Given the description of an element on the screen output the (x, y) to click on. 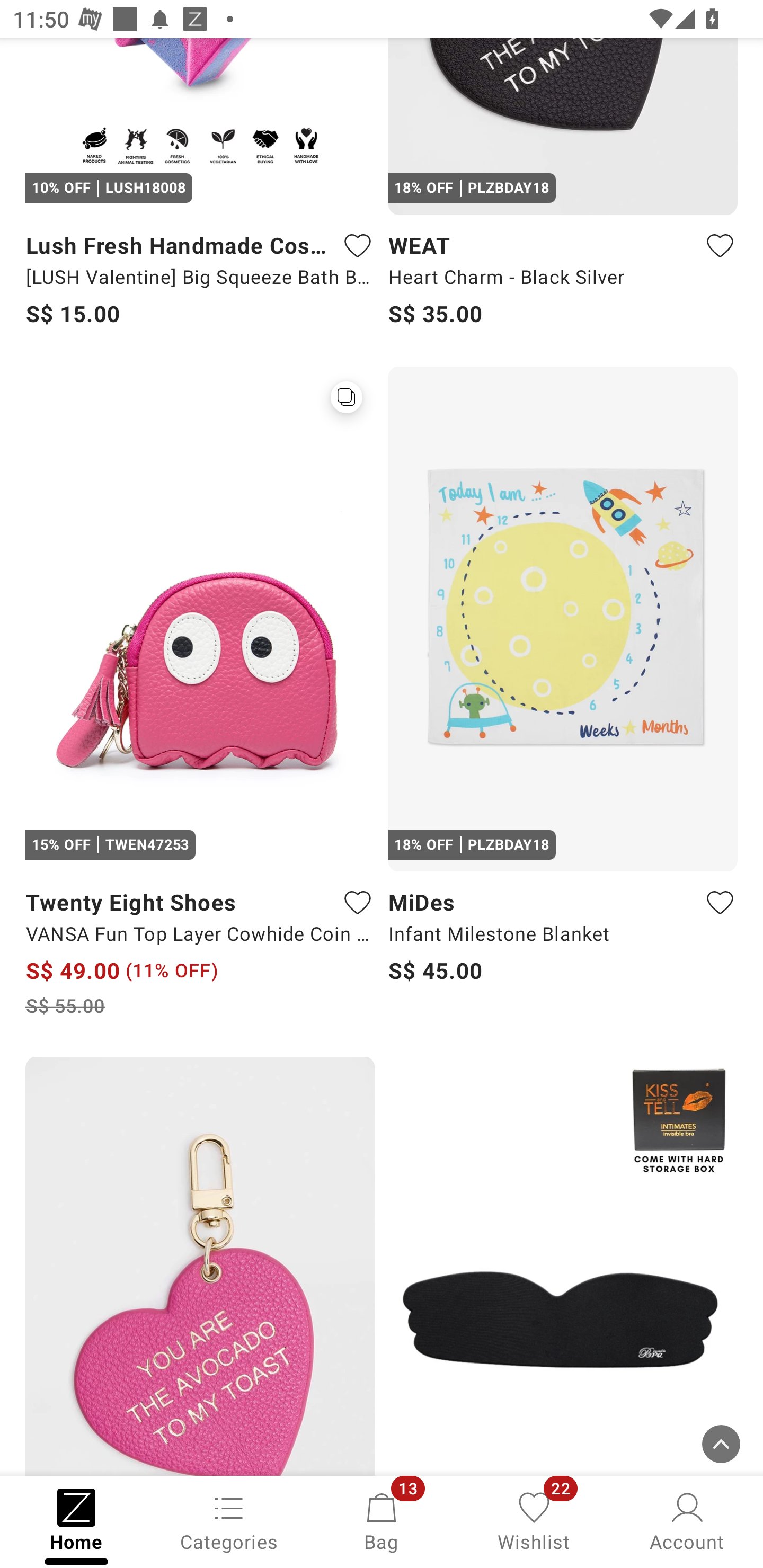
Categories (228, 1519)
Bag, 13 new notifications Bag (381, 1519)
Wishlist, 22 new notifications Wishlist (533, 1519)
Account (686, 1519)
